Given the description of an element on the screen output the (x, y) to click on. 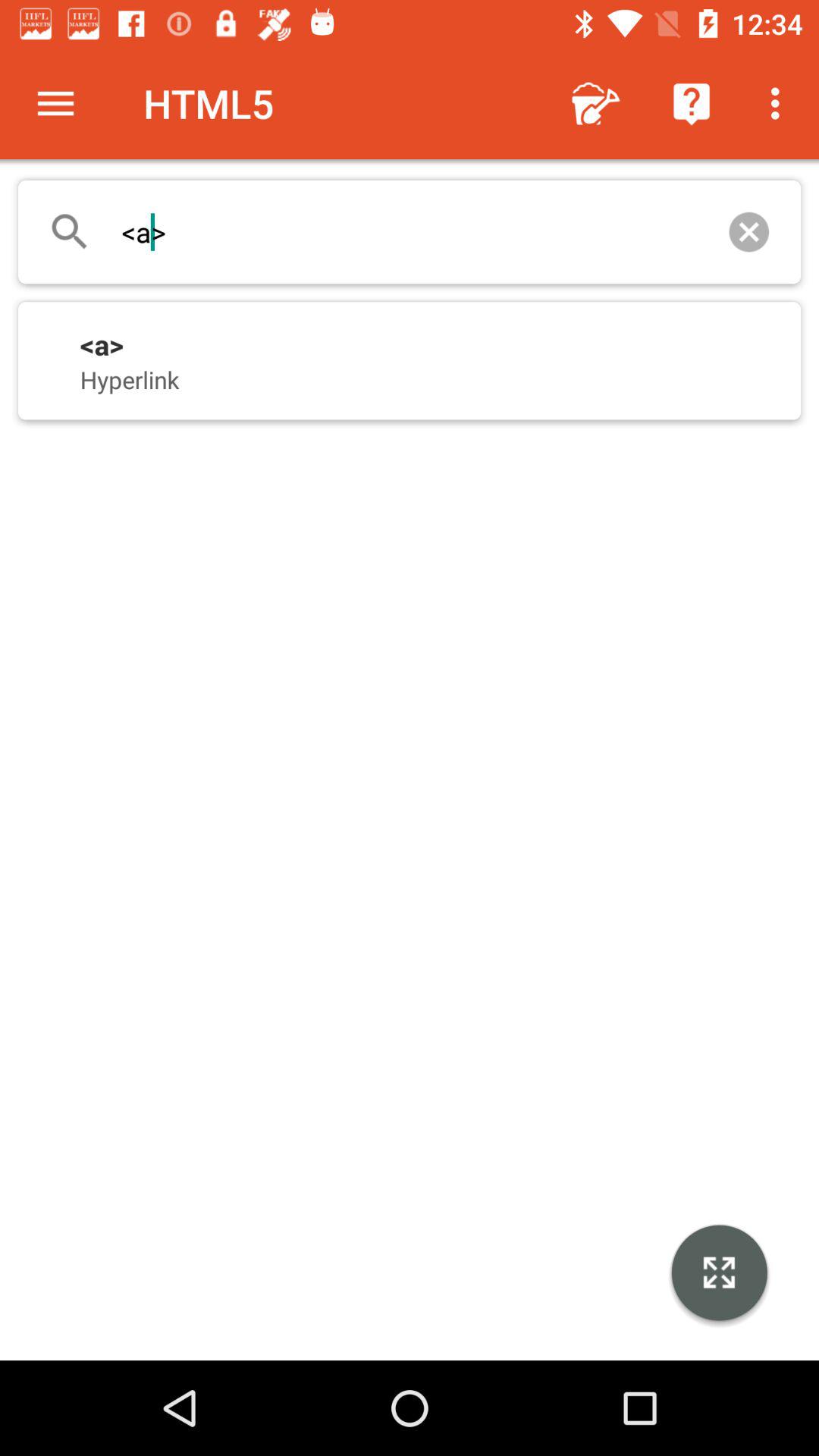
choose item next to <a> icon (748, 231)
